Given the description of an element on the screen output the (x, y) to click on. 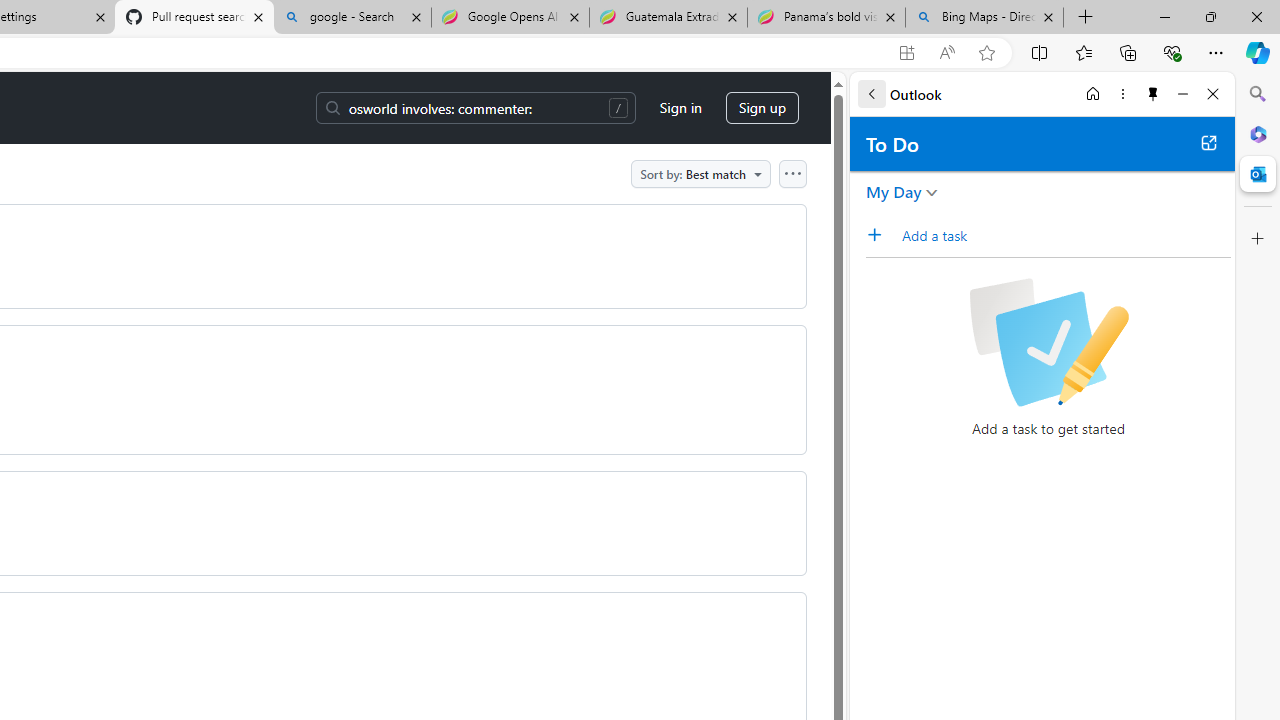
Add a task (1065, 235)
My Day (893, 191)
Google Opens AI Academy for Startups - Nearshore Americas (509, 17)
